Given the description of an element on the screen output the (x, y) to click on. 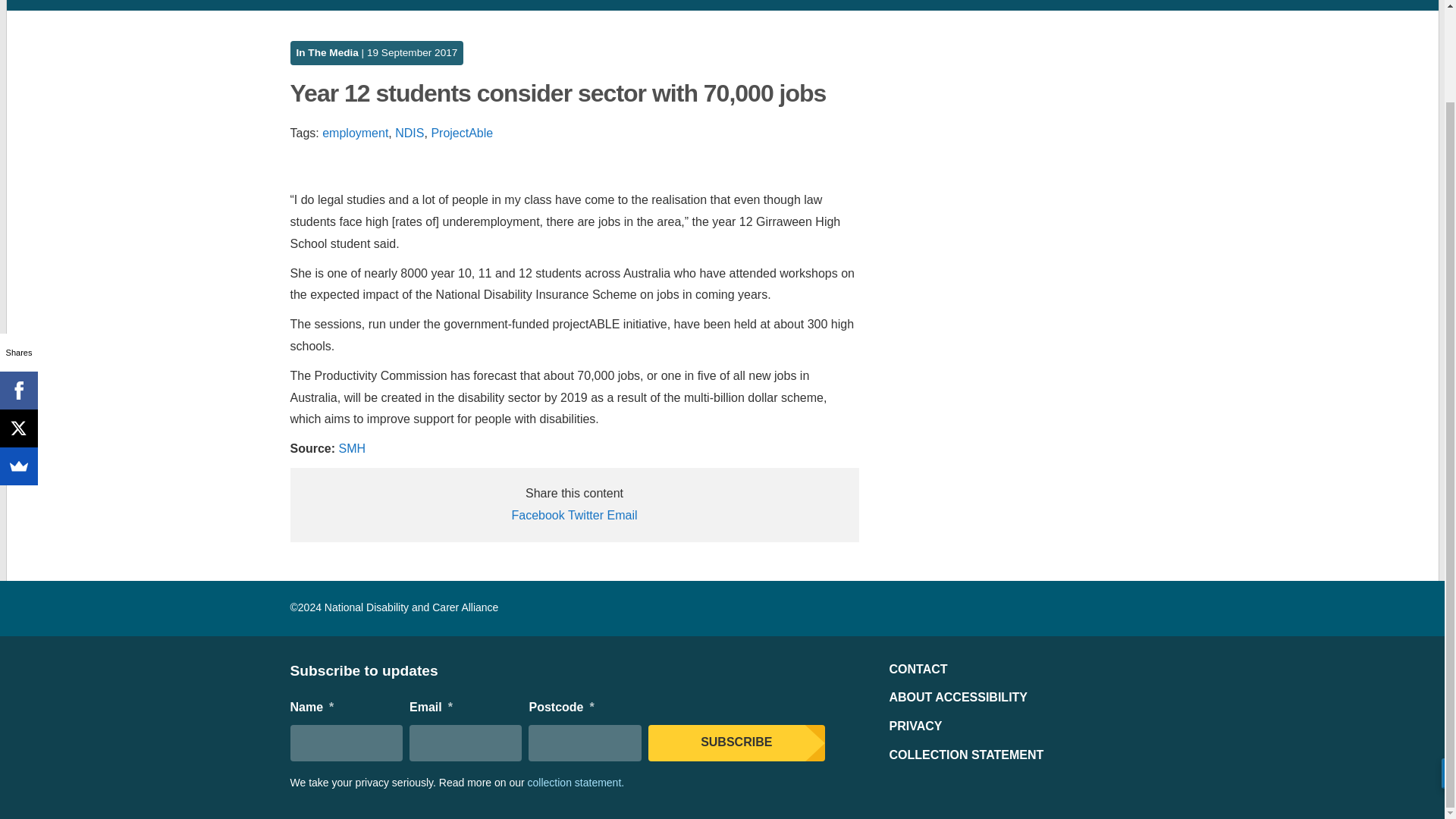
SumoMe (18, 360)
ProjectAble (461, 132)
SMH (352, 448)
employment (354, 132)
Email (622, 514)
X (18, 322)
Subscribe (736, 742)
In The Media (326, 52)
NDIS (408, 132)
Share via Twitter (585, 514)
Twitter (585, 514)
Share via Email (622, 514)
Subscribe (736, 742)
Facebook (537, 514)
Share via Facebook (537, 514)
